Given the description of an element on the screen output the (x, y) to click on. 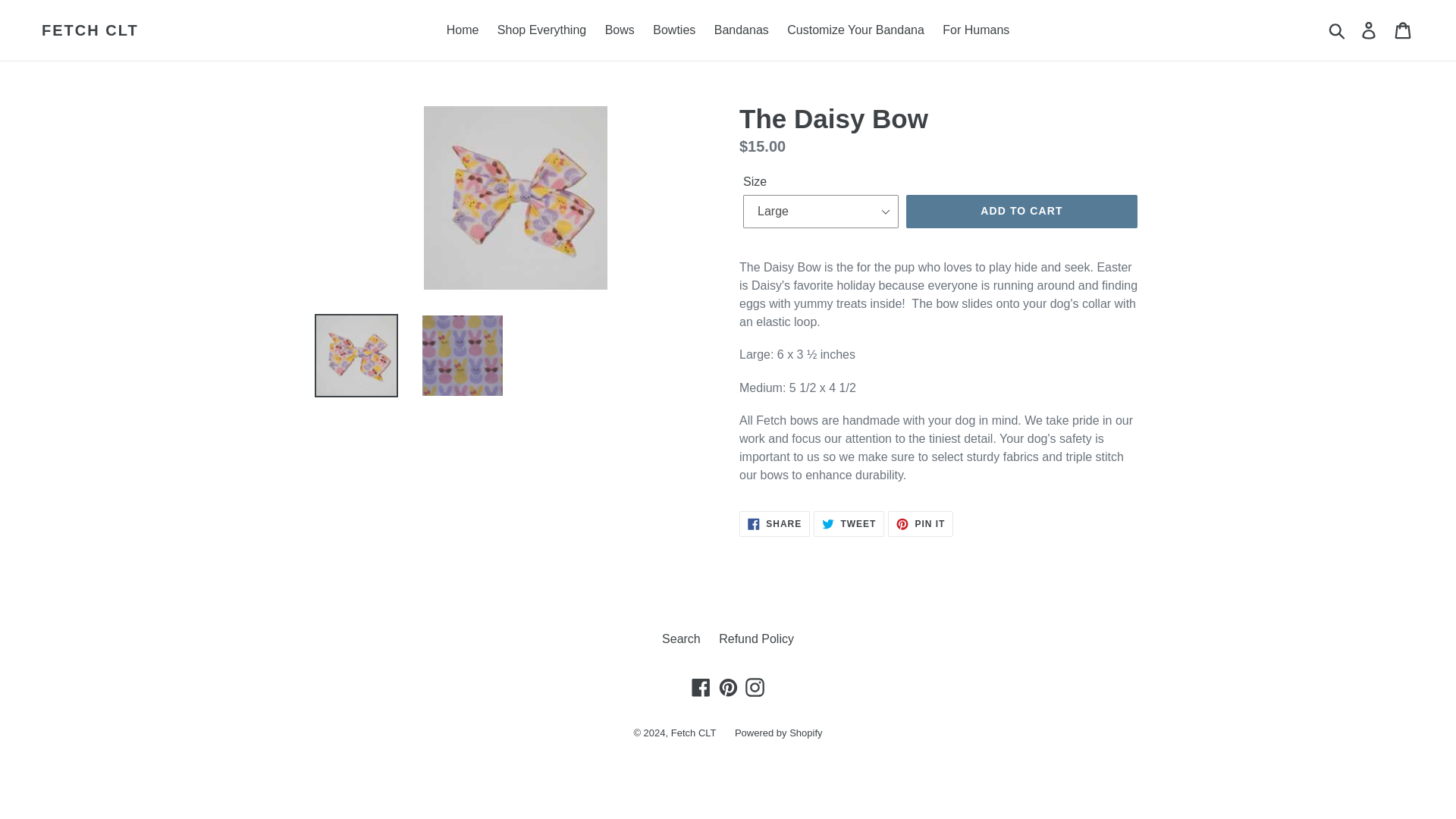
Search (681, 638)
Bows (619, 29)
Pinterest (727, 686)
Bandanas (741, 29)
Instagram (754, 686)
Refund Policy (756, 638)
Submit (848, 524)
Log in (1337, 29)
Fetch CLT (1369, 29)
